Given the description of an element on the screen output the (x, y) to click on. 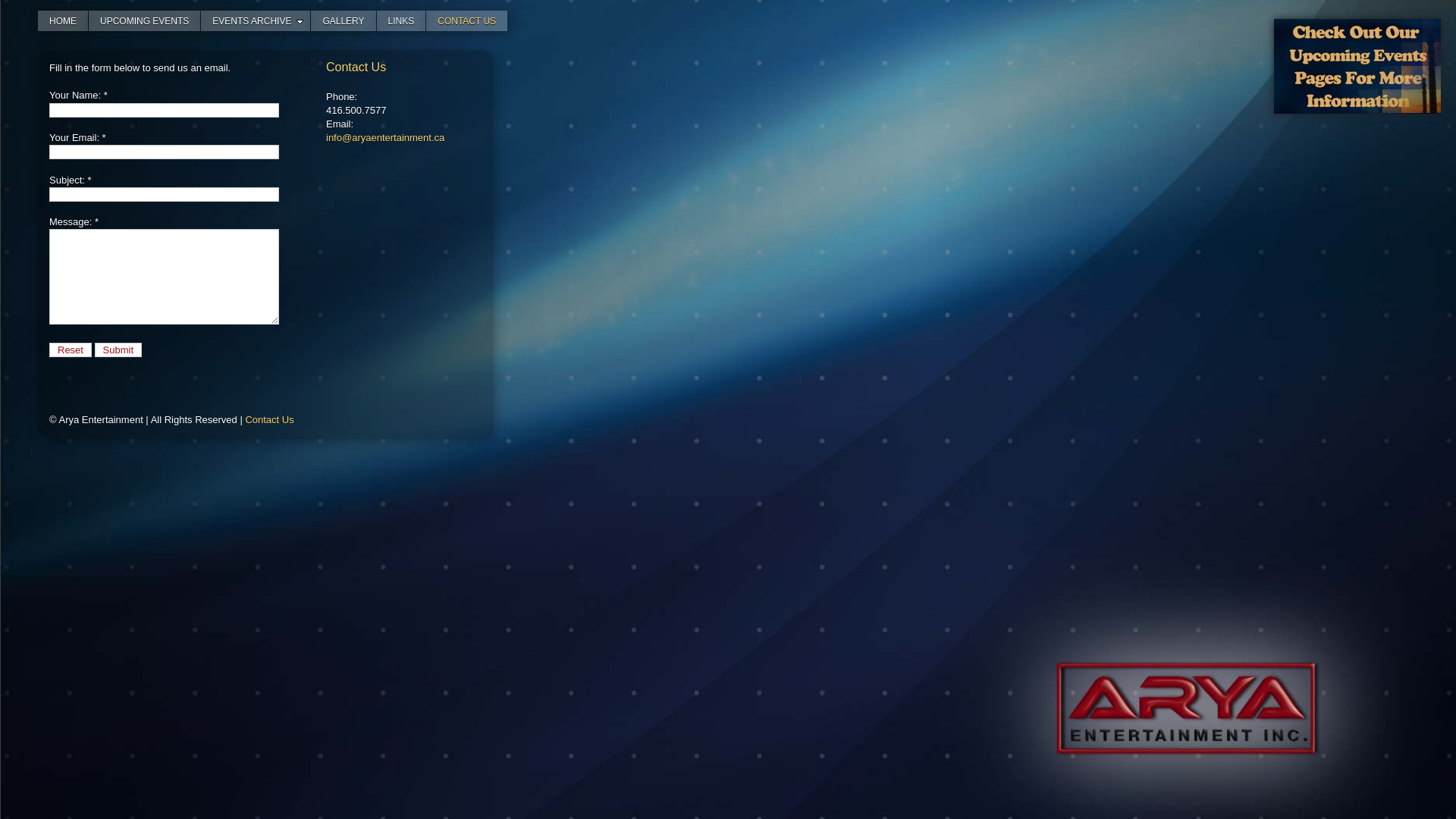
LINKS Element type: text (401, 20)
Submit Element type: text (117, 349)
Contact Us Element type: text (268, 419)
EVENTS ARCHIVE Element type: text (255, 20)
info@aryaentertainment.ca Element type: text (385, 137)
CONTACT US Element type: text (466, 20)
UPCOMING EVENTS Element type: text (144, 20)
GALLERY Element type: text (342, 20)
HOME Element type: text (62, 20)
